Given the description of an element on the screen output the (x, y) to click on. 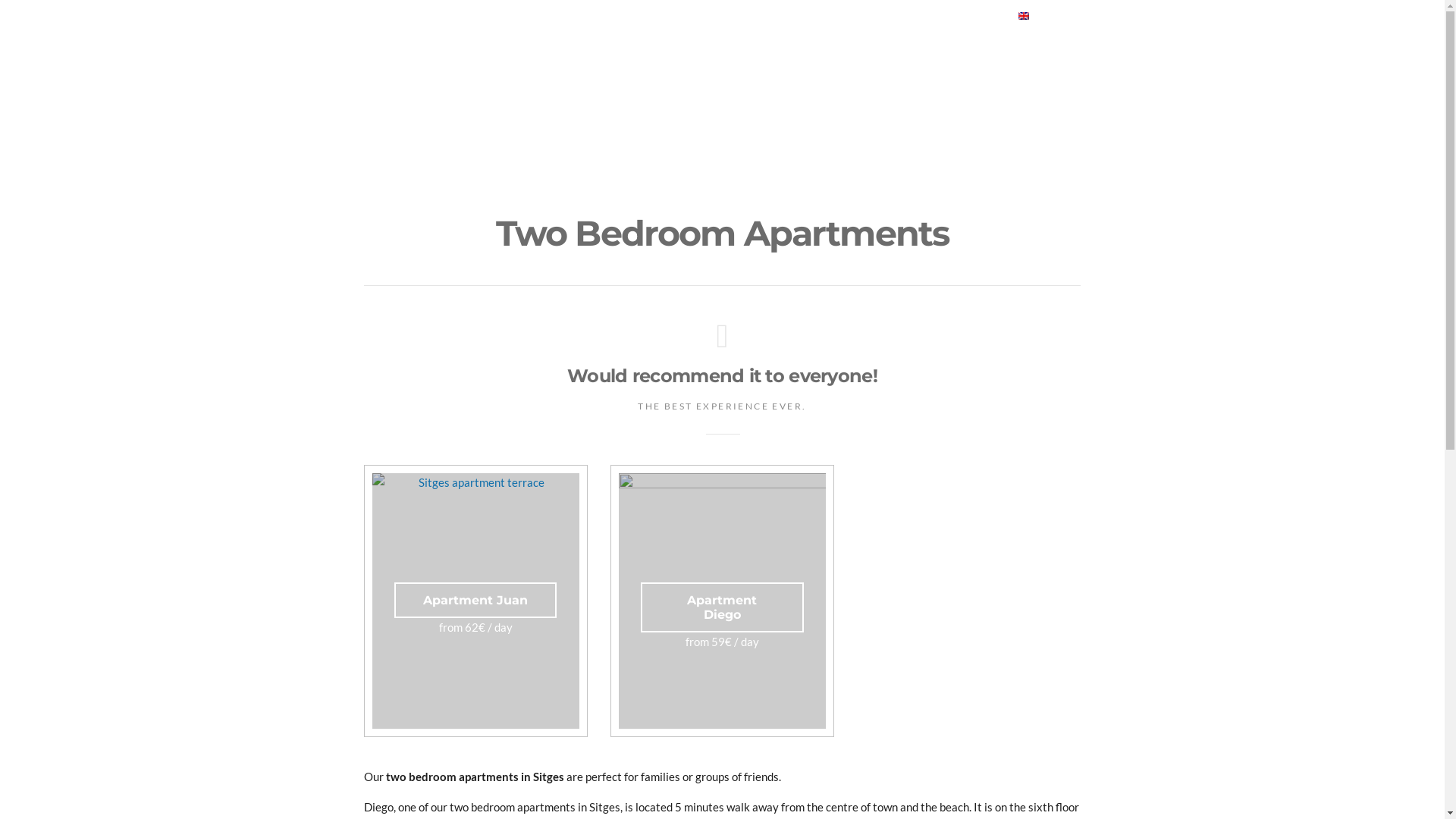
WHO WE ARE? Element type: text (922, 103)
Apartment Juan Element type: text (475, 600)
HOME Element type: text (380, 103)
BLOG Element type: text (996, 103)
CONTACT Element type: text (1056, 103)
English Element type: hover (1023, 15)
OUR HOLIDAY APARTMENTS Element type: text (489, 103)
Apartment Diego Element type: text (721, 607)
ENGLISH Element type: text (1049, 15)
